Given the description of an element on the screen output the (x, y) to click on. 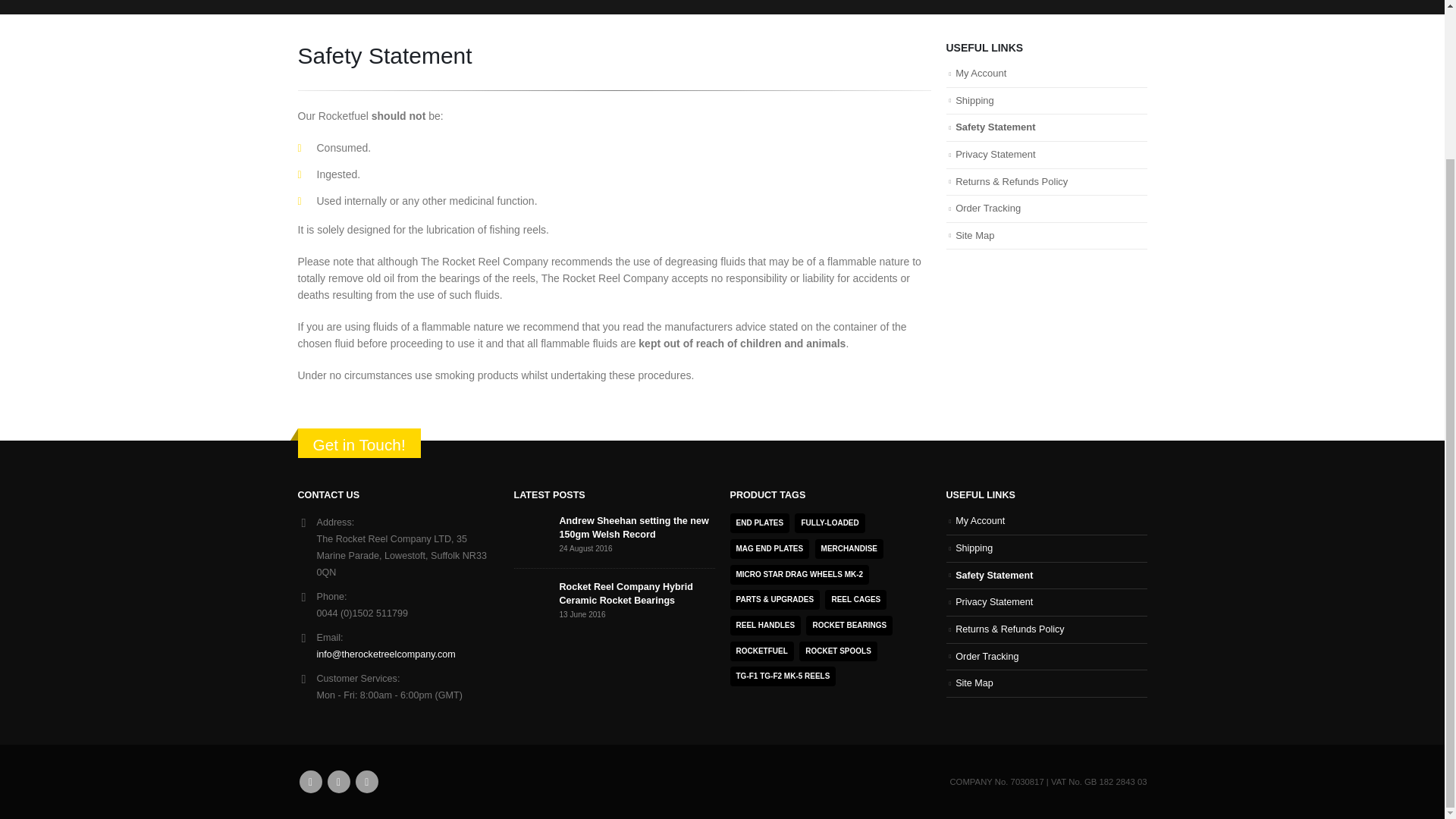
HOME (310, 2)
Facebook (309, 781)
Andrew Sheehan setting the new 150gm Welsh Record (634, 527)
Get in Touch! (358, 444)
Twitter (338, 781)
Safety Statement (995, 126)
Go to Home Page (310, 2)
FULLY-LOADED (829, 523)
Site Map (974, 235)
Youtube (366, 781)
